Given the description of an element on the screen output the (x, y) to click on. 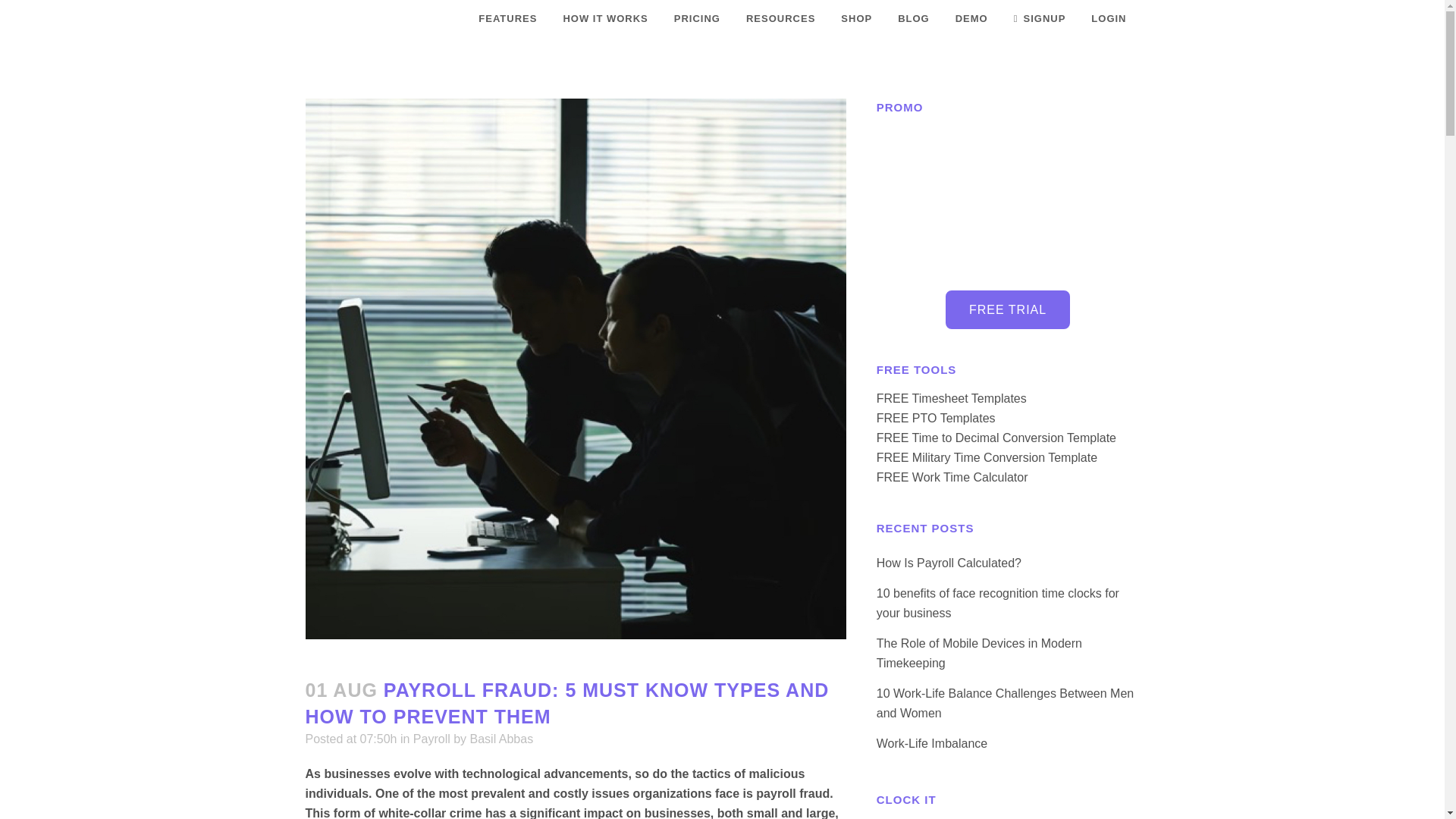
ClockIt - Product Promo Video (1008, 201)
HOW IT WORKS (605, 18)
FEATURES (507, 18)
PRICING (697, 18)
RESOURCES (780, 18)
